Given the description of an element on the screen output the (x, y) to click on. 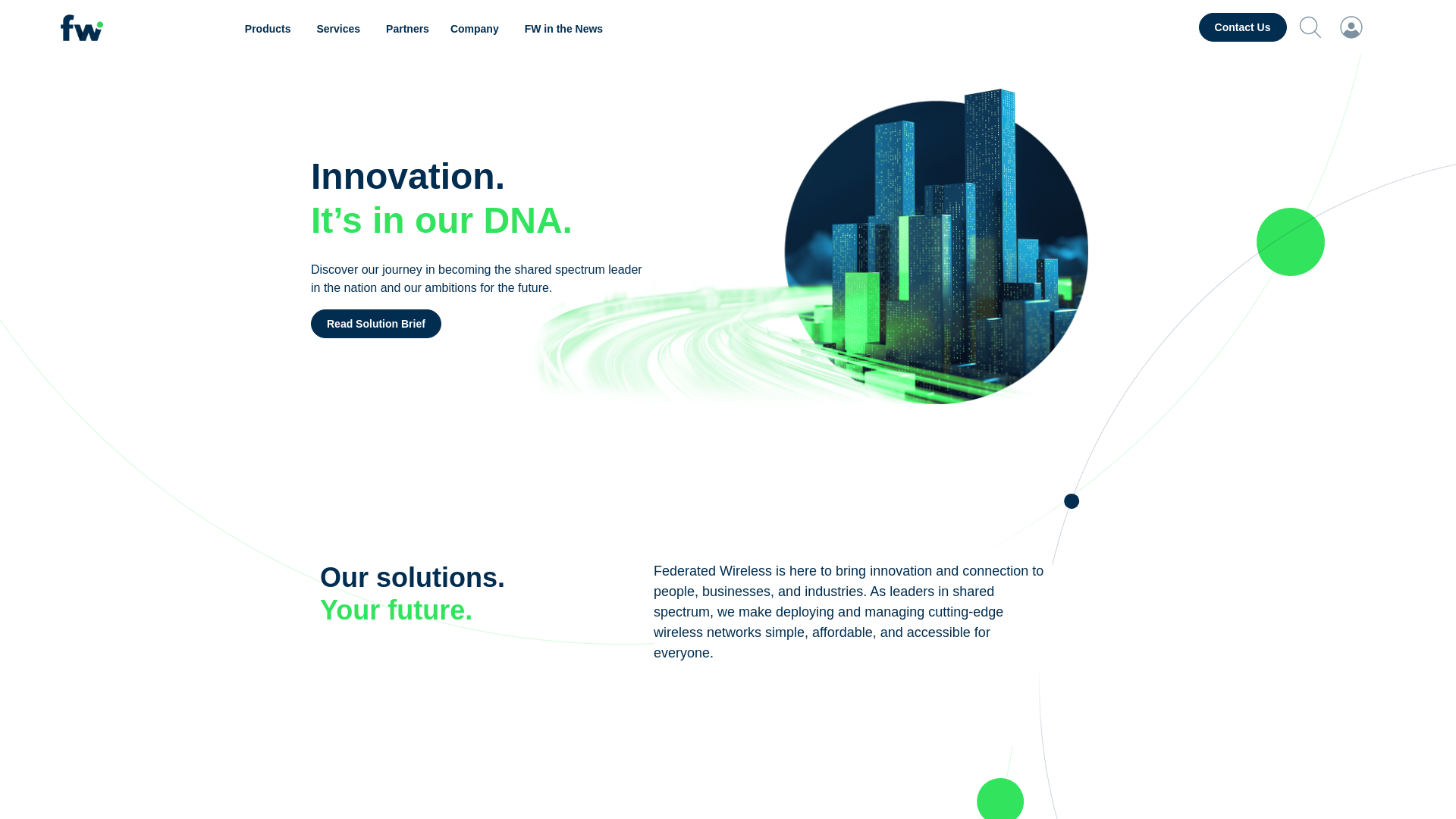
Partners (407, 29)
Products (269, 29)
Services (340, 29)
FW in the News (563, 29)
Contact Us (1242, 27)
Read Solution Brief (376, 323)
Company (476, 29)
